Given the description of an element on the screen output the (x, y) to click on. 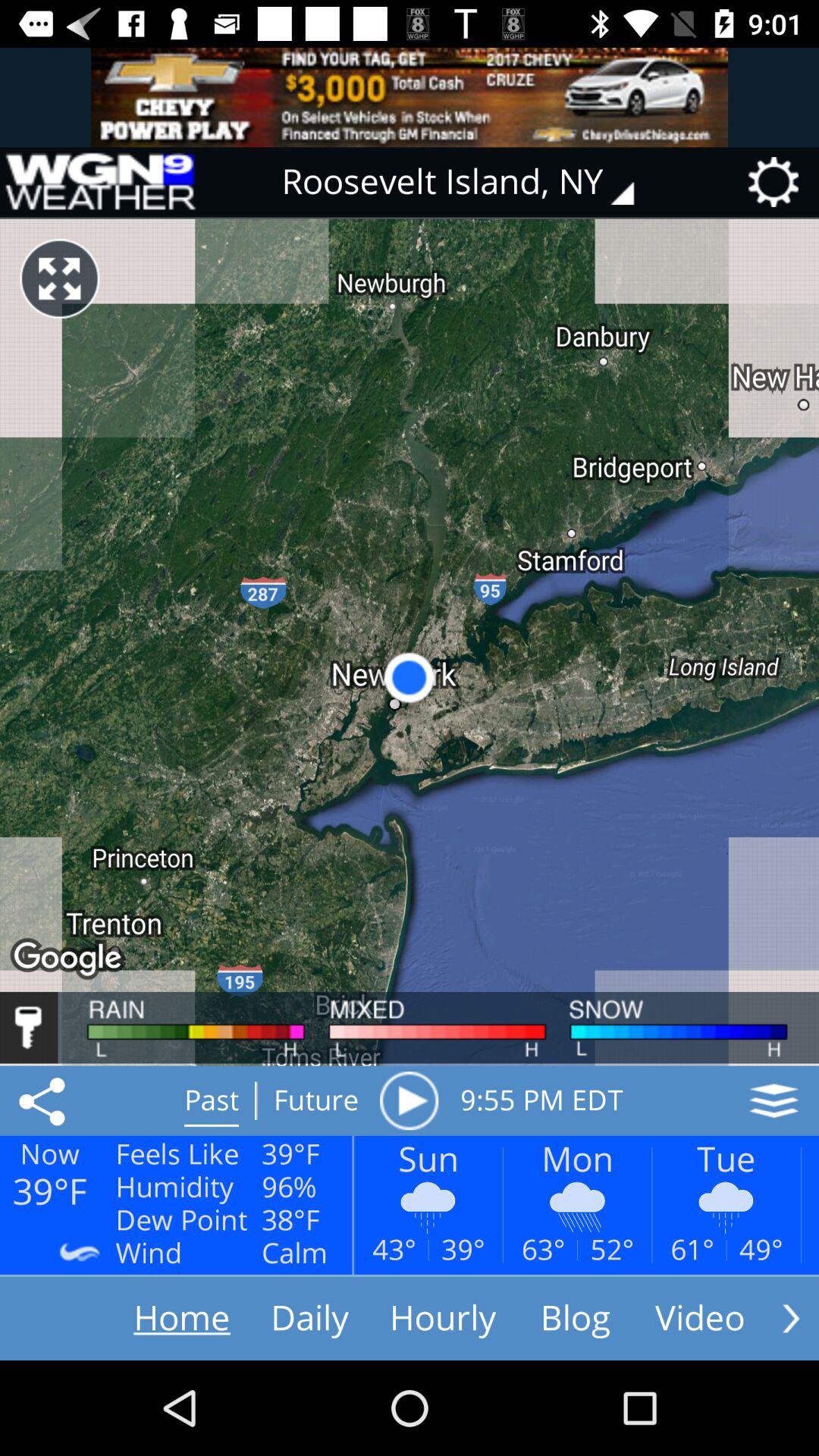
toggle layers (774, 1100)
